Given the description of an element on the screen output the (x, y) to click on. 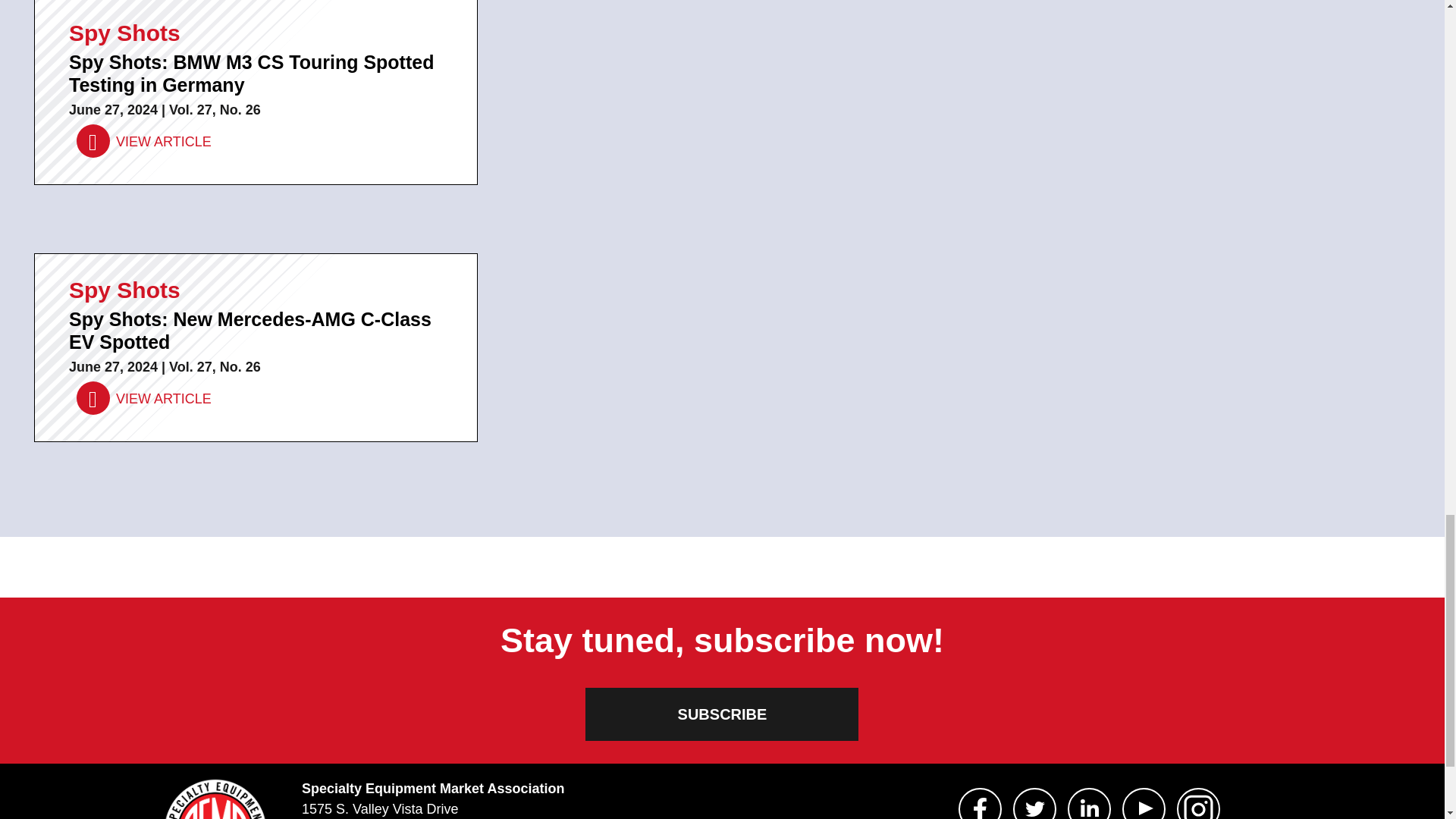
SEMA YouTube Link (1144, 803)
SEMA Twitter Link (1035, 803)
SEMA LinkedIn Link (1088, 803)
SEMA Instagram Link (1198, 803)
SEMA Facebook Link (979, 803)
Spy Shots: New Mercedes-AMG C-Class EV Spotted (143, 399)
VIEW ARTICLE (143, 141)
SUBSCRIBE (722, 714)
Spy Shots: BMW M3 CS Touring Spotted Testing in Germany (143, 141)
VIEW ARTICLE (143, 399)
